Given the description of an element on the screen output the (x, y) to click on. 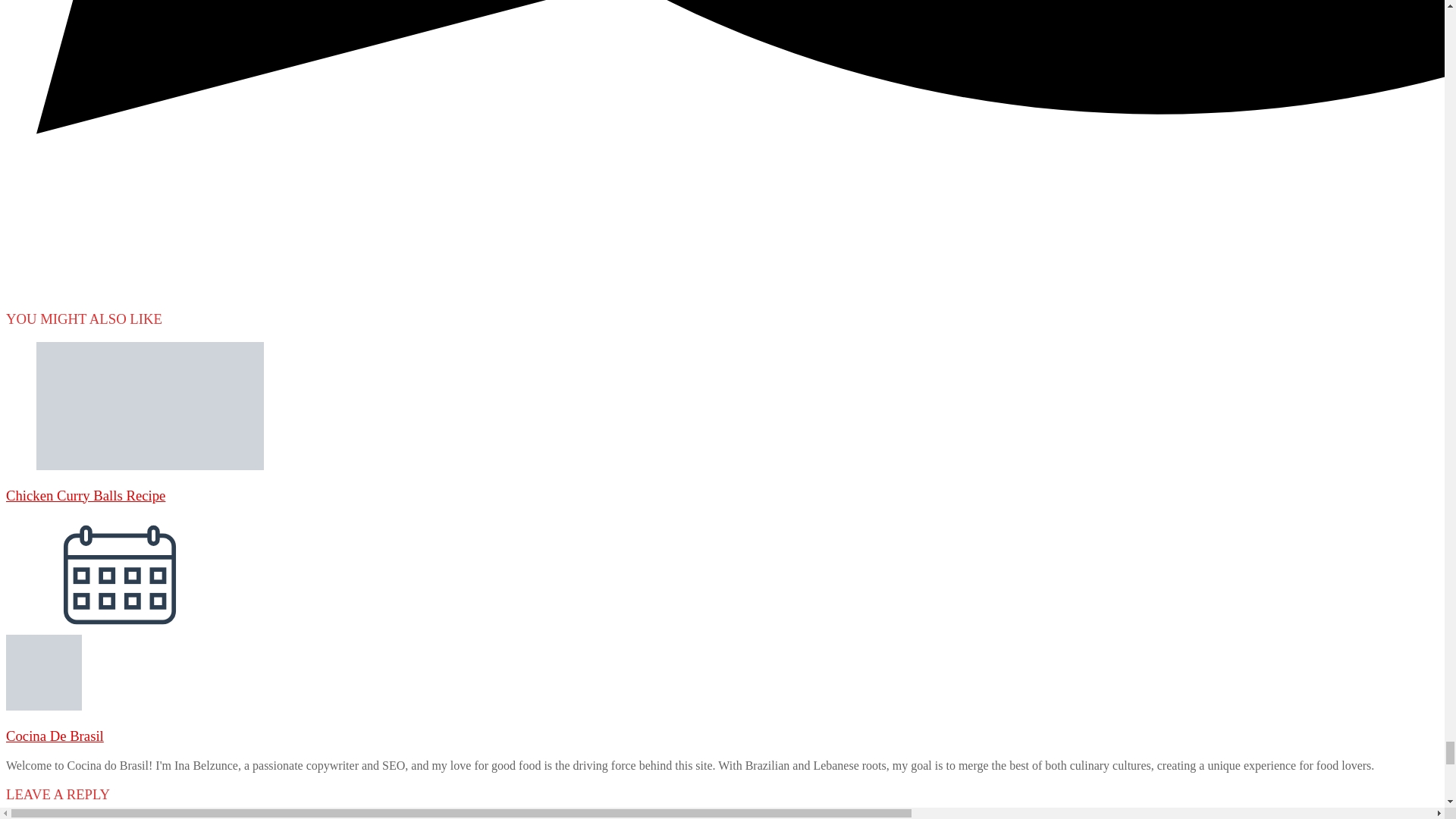
Visit author page (54, 735)
Visit author page (43, 706)
